Given the description of an element on the screen output the (x, y) to click on. 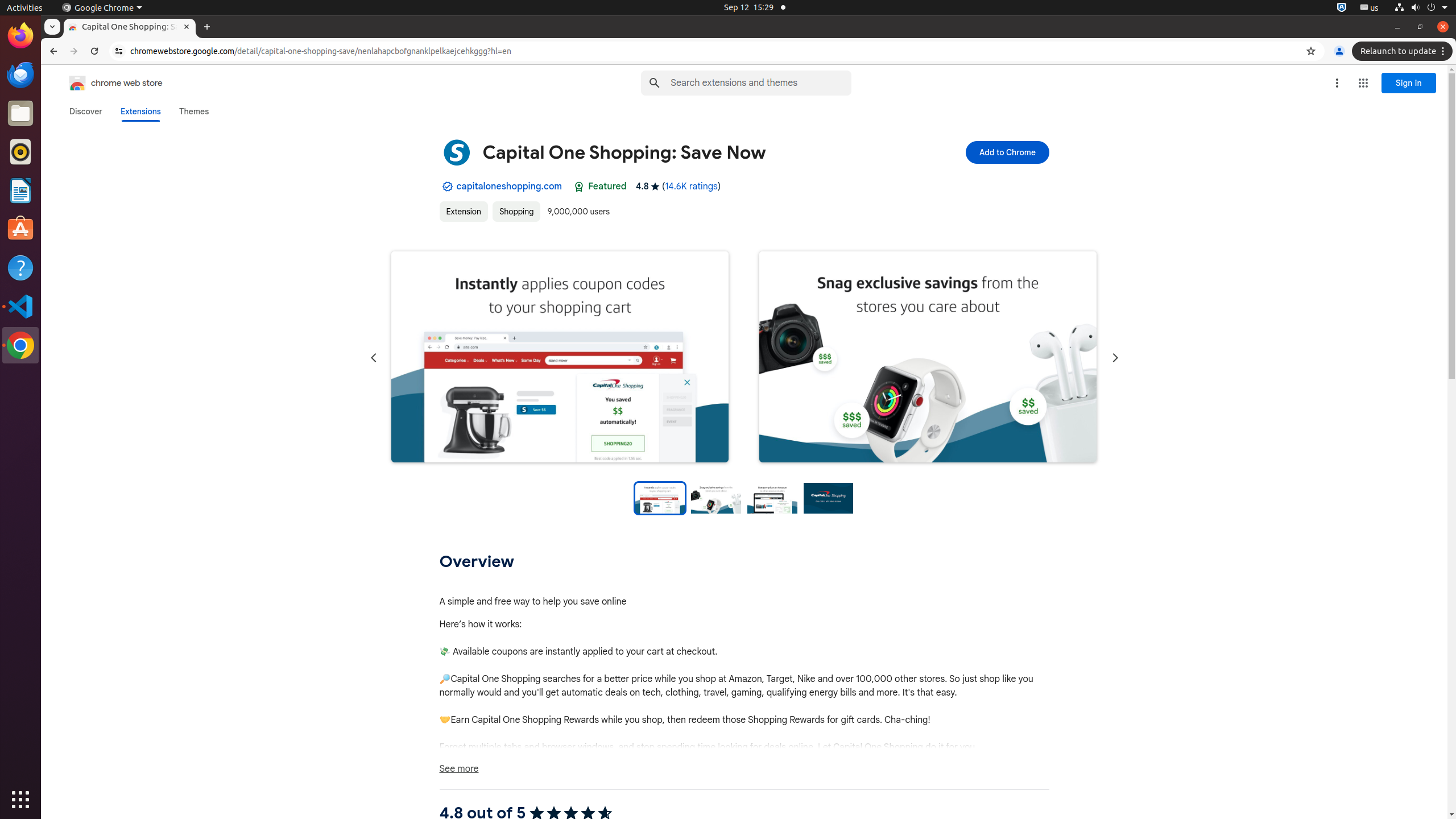
Discover Element type: page-tab (85, 111)
New Tab Element type: push-button (206, 26)
Item media 2 screenshot Element type: push-button (927, 357)
Help Element type: push-button (20, 267)
Bookmark this tab Element type: push-button (1310, 51)
